Given the description of an element on the screen output the (x, y) to click on. 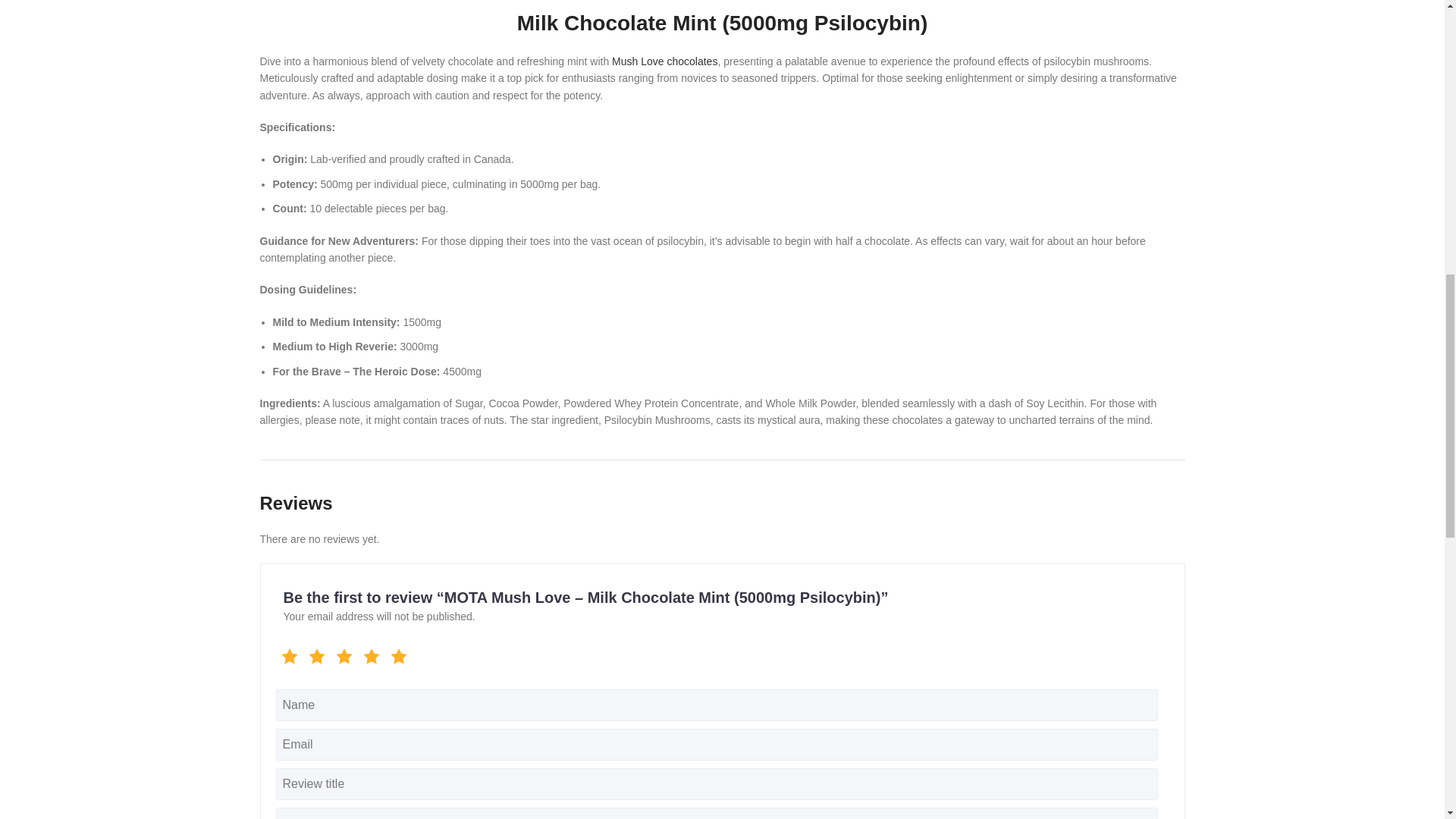
3 (280, 653)
1 (280, 653)
5 (280, 653)
2 (280, 653)
4 (280, 653)
